Given the description of an element on the screen output the (x, y) to click on. 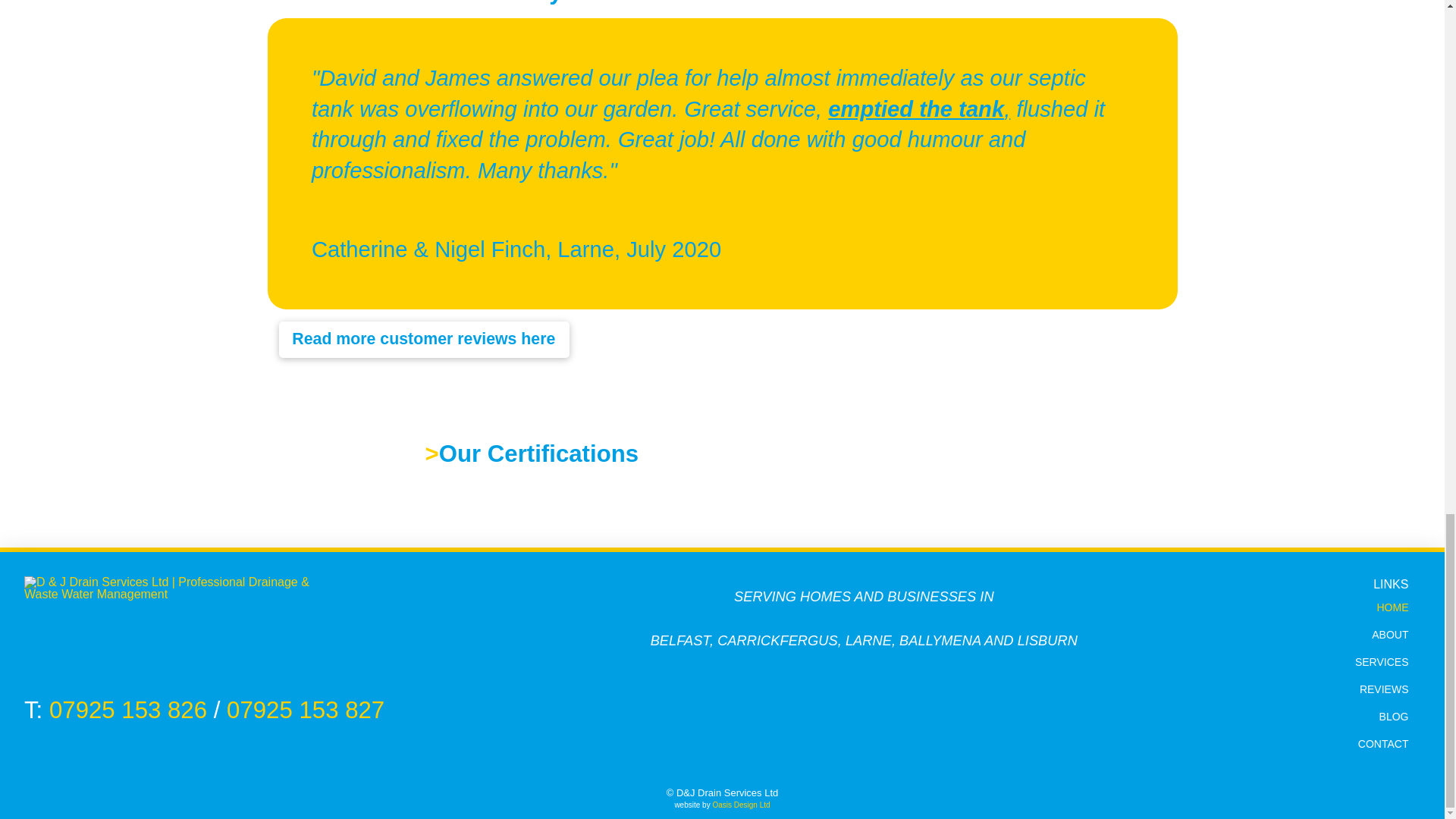
emptied the tank (916, 109)
Septic tank emptying (916, 109)
Read more customer reviews here (424, 339)
